Given the description of an element on the screen output the (x, y) to click on. 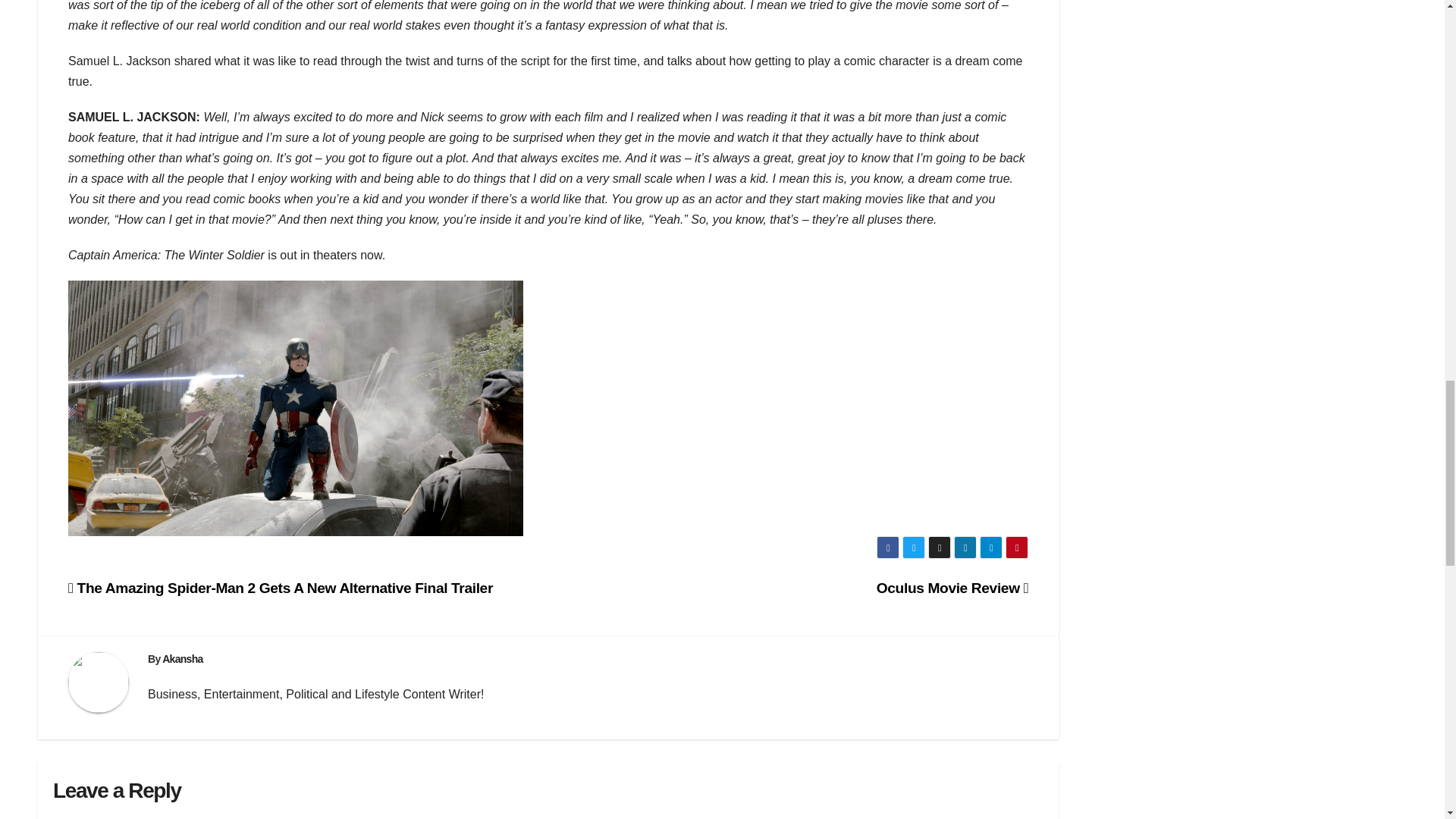
Oculus Movie Review (951, 587)
Akansha (181, 658)
